Given the description of an element on the screen output the (x, y) to click on. 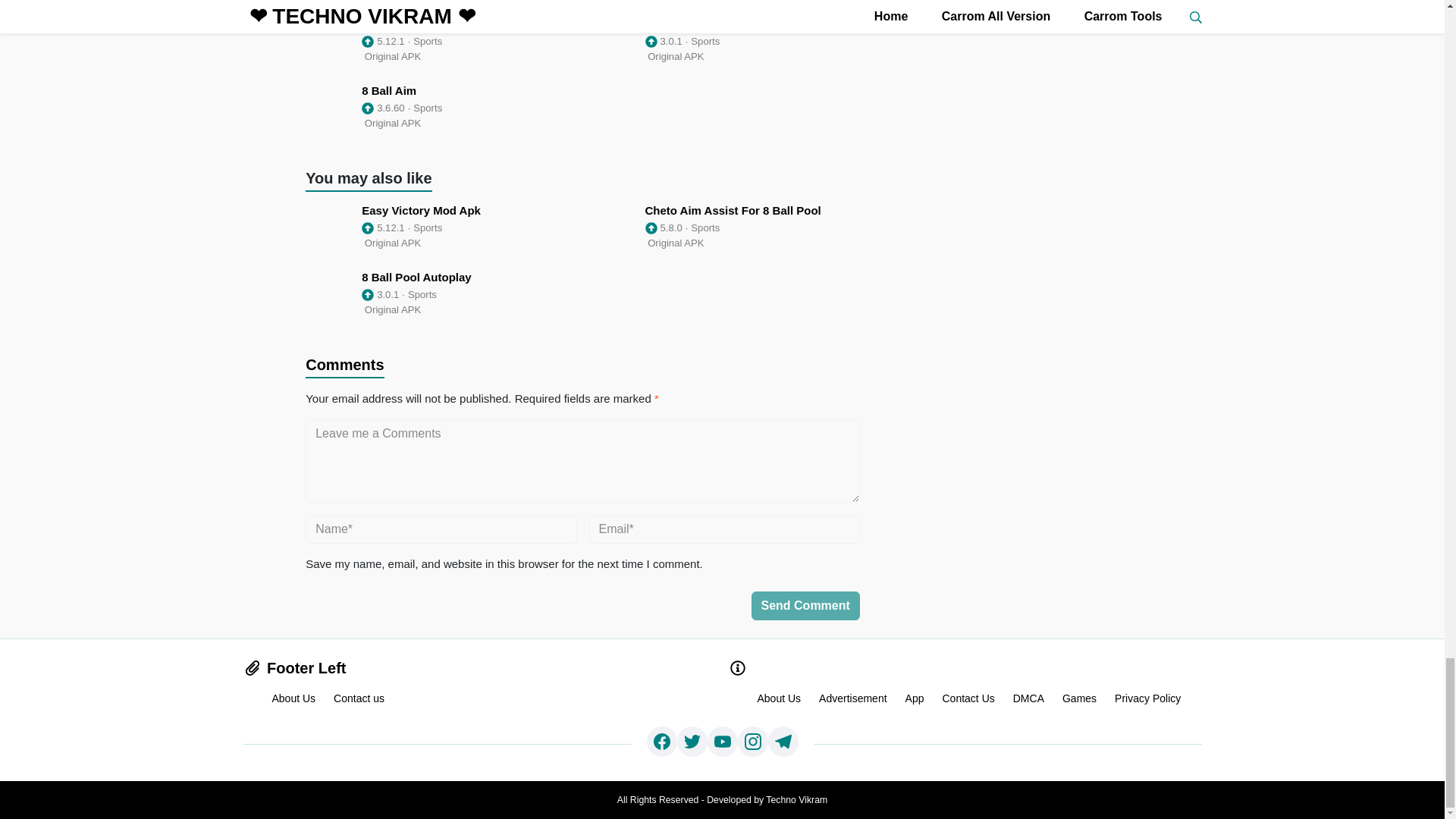
8 Ball Pool Autoplay (725, 41)
Easy Victory Mod Apk (441, 41)
Easy Victory Mod Apk (441, 227)
Send Comment (805, 605)
8 Ball Pool Autoplay (441, 295)
Cheto Aim Assist For 8 Ball Pool (725, 227)
8 Ball Aim (441, 108)
